Given the description of an element on the screen output the (x, y) to click on. 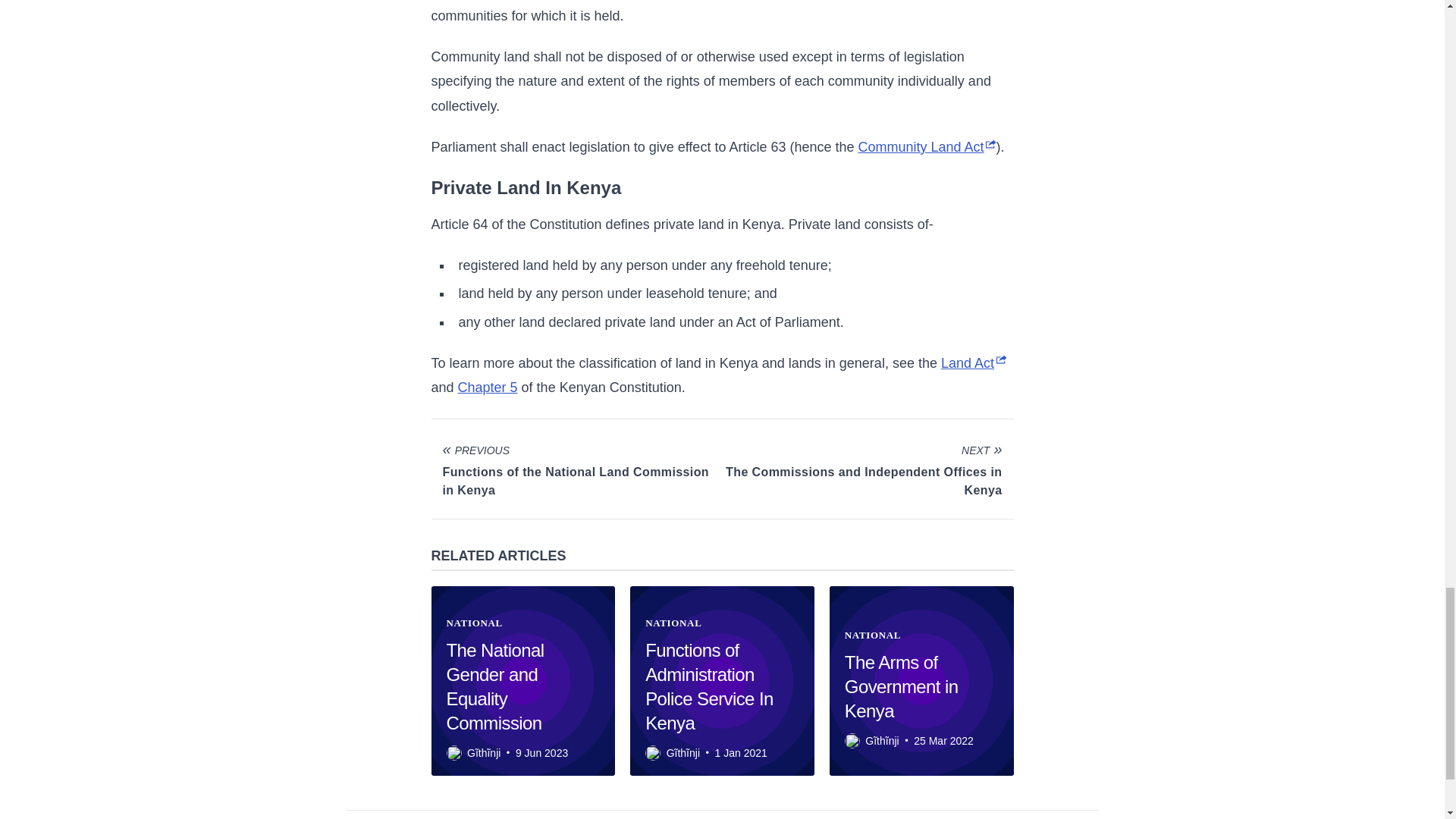
Land Act (973, 363)
Chapter 5 (488, 387)
The Arms of Government in Kenya (901, 686)
The National Gender and Equality Commission (494, 686)
Functions of Administration Police Service In Kenya (709, 686)
Community Land Act (927, 146)
